Given the description of an element on the screen output the (x, y) to click on. 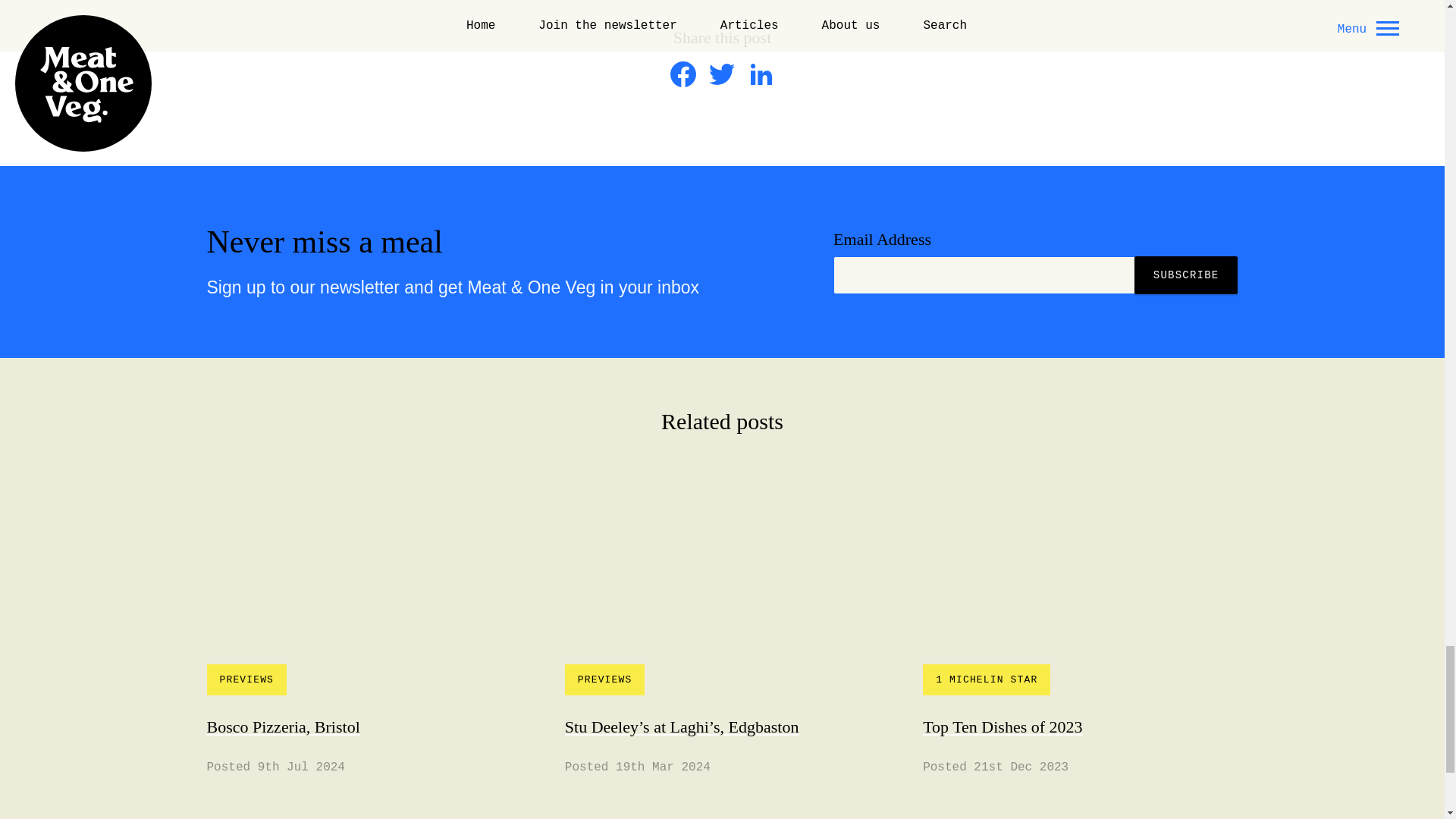
LinkedIn (761, 82)
Twitter (722, 82)
Subscribe (1186, 275)
Facebook (682, 82)
